Given the description of an element on the screen output the (x, y) to click on. 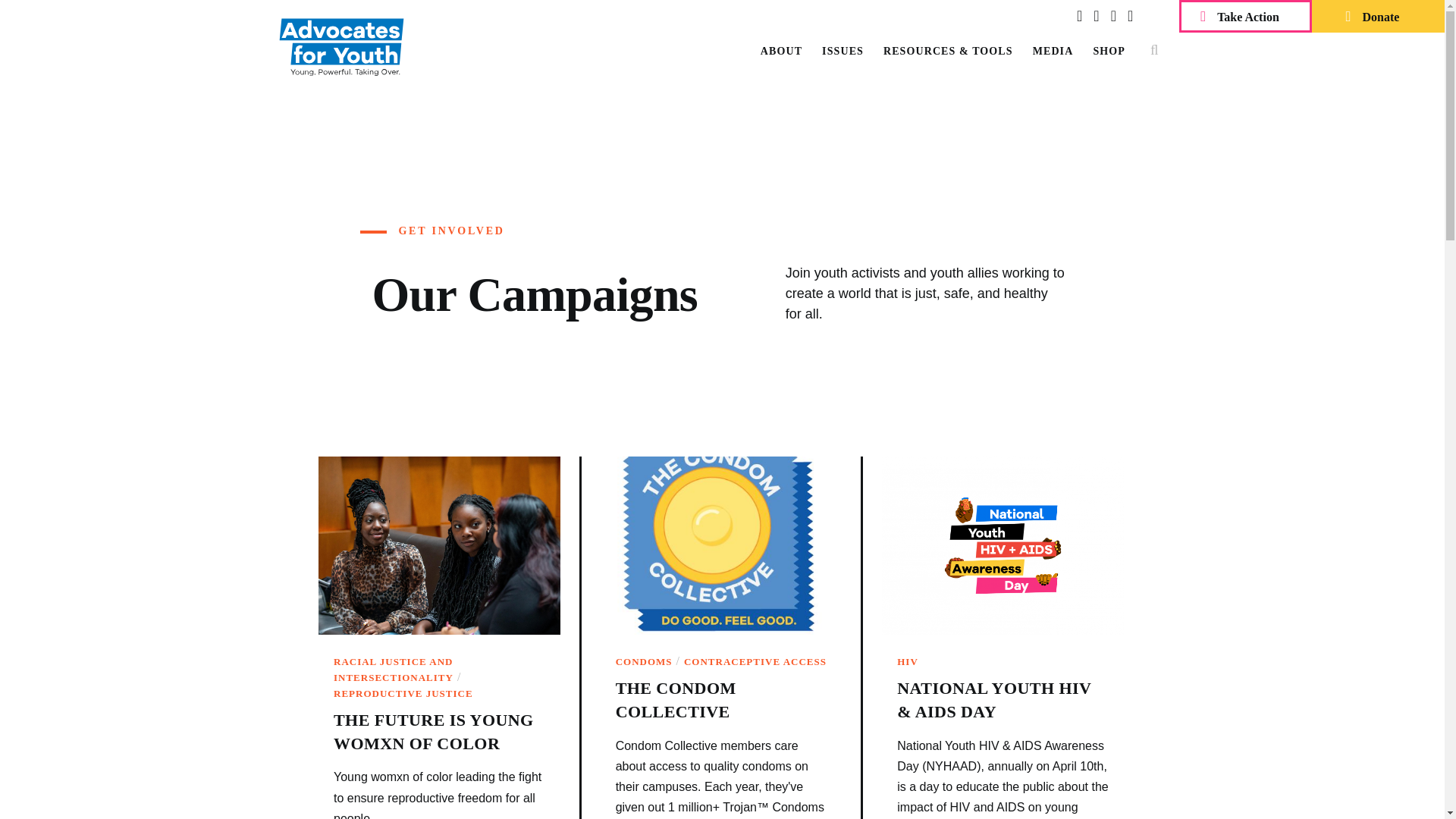
Take Action (1245, 16)
Advocates for Youth logo (341, 45)
ABOUT (781, 50)
ISSUES (842, 50)
Advocates for Youth logo (341, 47)
